Given the description of an element on the screen output the (x, y) to click on. 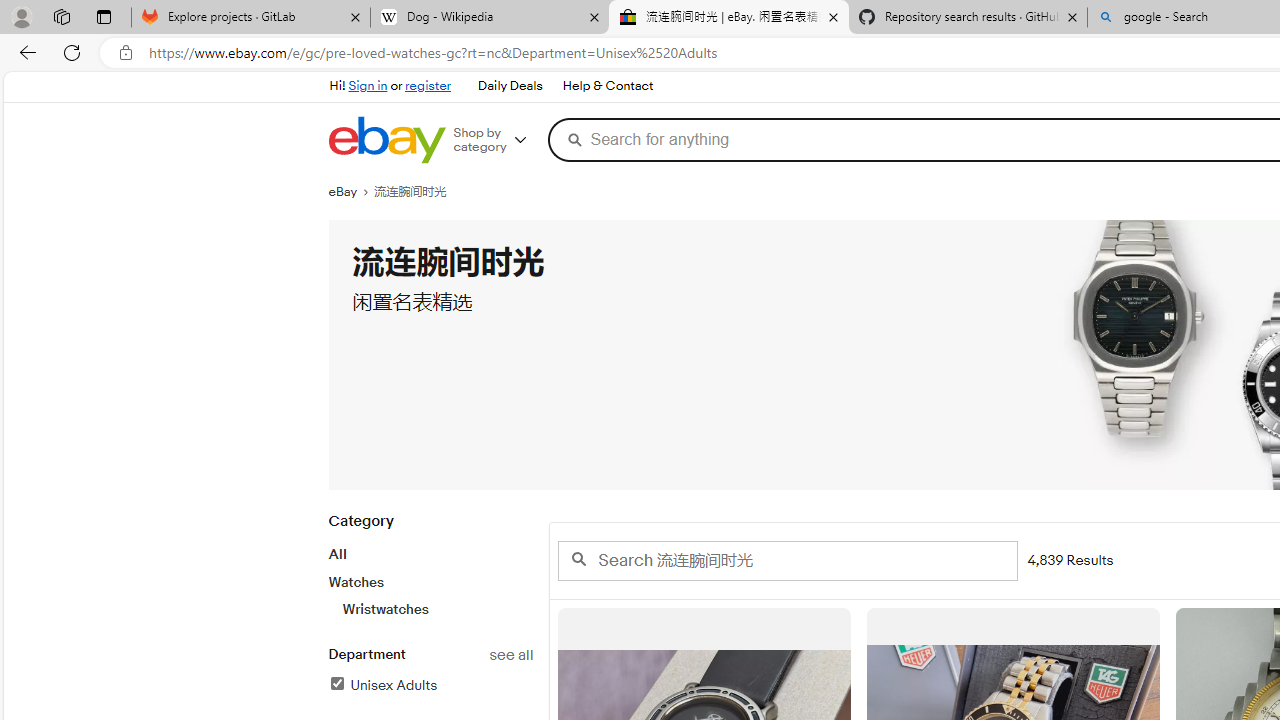
Daily Deals (509, 85)
CategoryAllWatchesWristwatches (430, 576)
eBay Home (386, 139)
eBay Home (386, 139)
eBay (351, 191)
Departmentsee allUnisex AdultsFilter Applied (430, 681)
WatchesWristwatches (430, 595)
Help & Contact (606, 85)
